Given the description of an element on the screen output the (x, y) to click on. 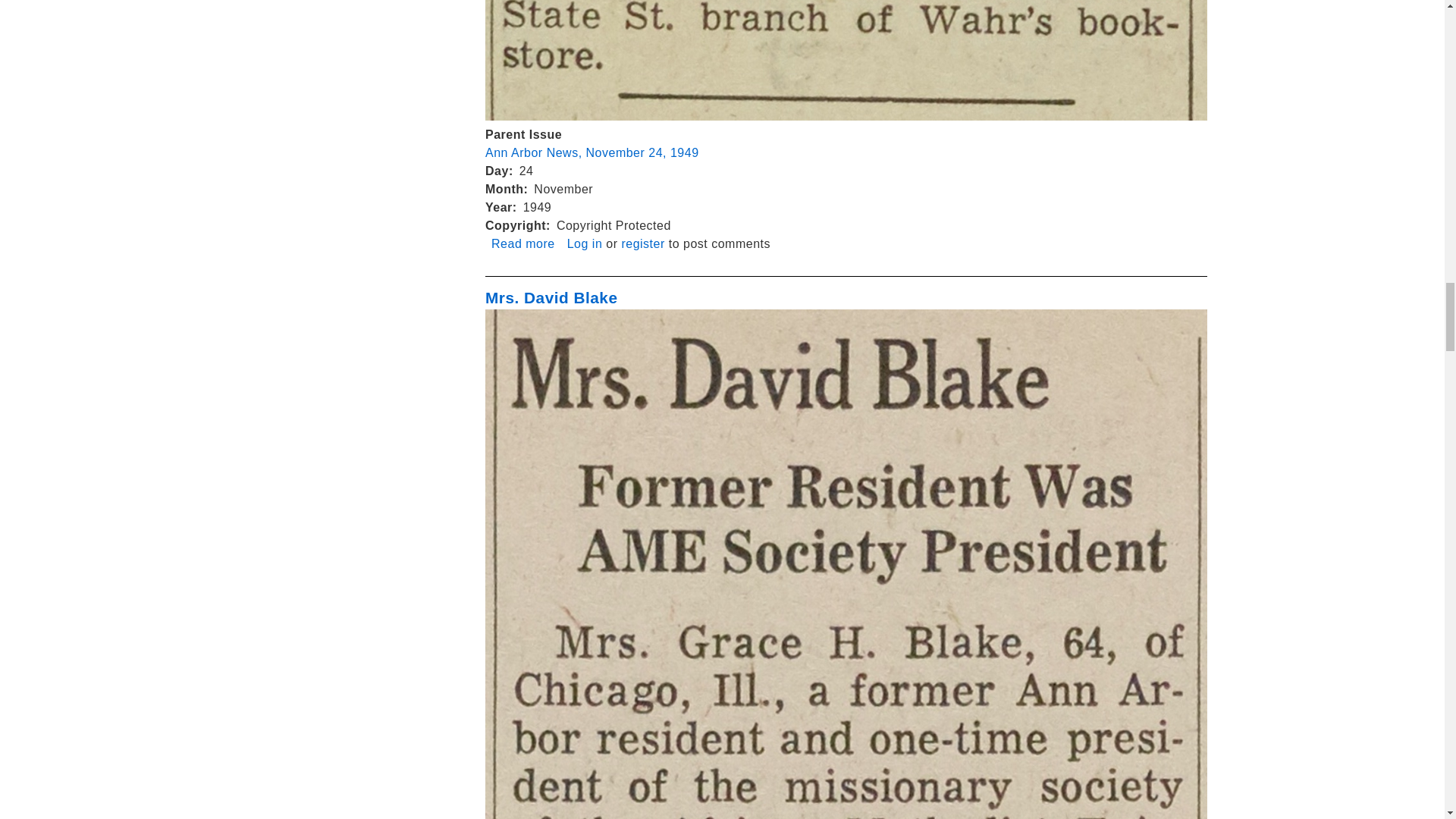
Ann Arbor News, November 24, 1949 (523, 243)
Mrs. David Blake (591, 152)
register (550, 297)
Log in (642, 243)
Fox Auxiliary To Sponsor Concert (584, 243)
